Given the description of an element on the screen output the (x, y) to click on. 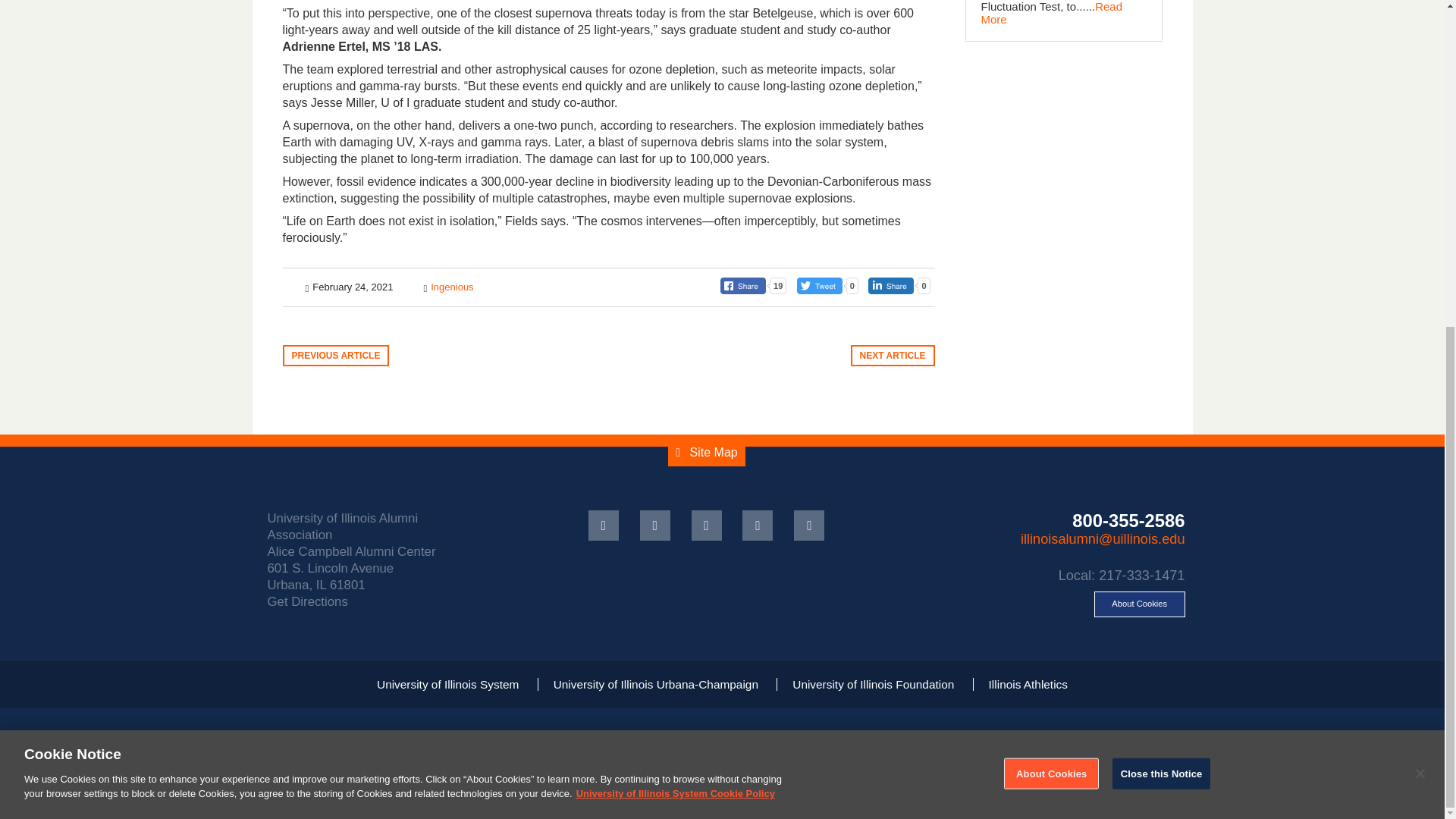
Flickr (757, 525)
Facebook (603, 525)
Linkedin (706, 525)
Twitter (654, 525)
Instagram (808, 525)
